Given the description of an element on the screen output the (x, y) to click on. 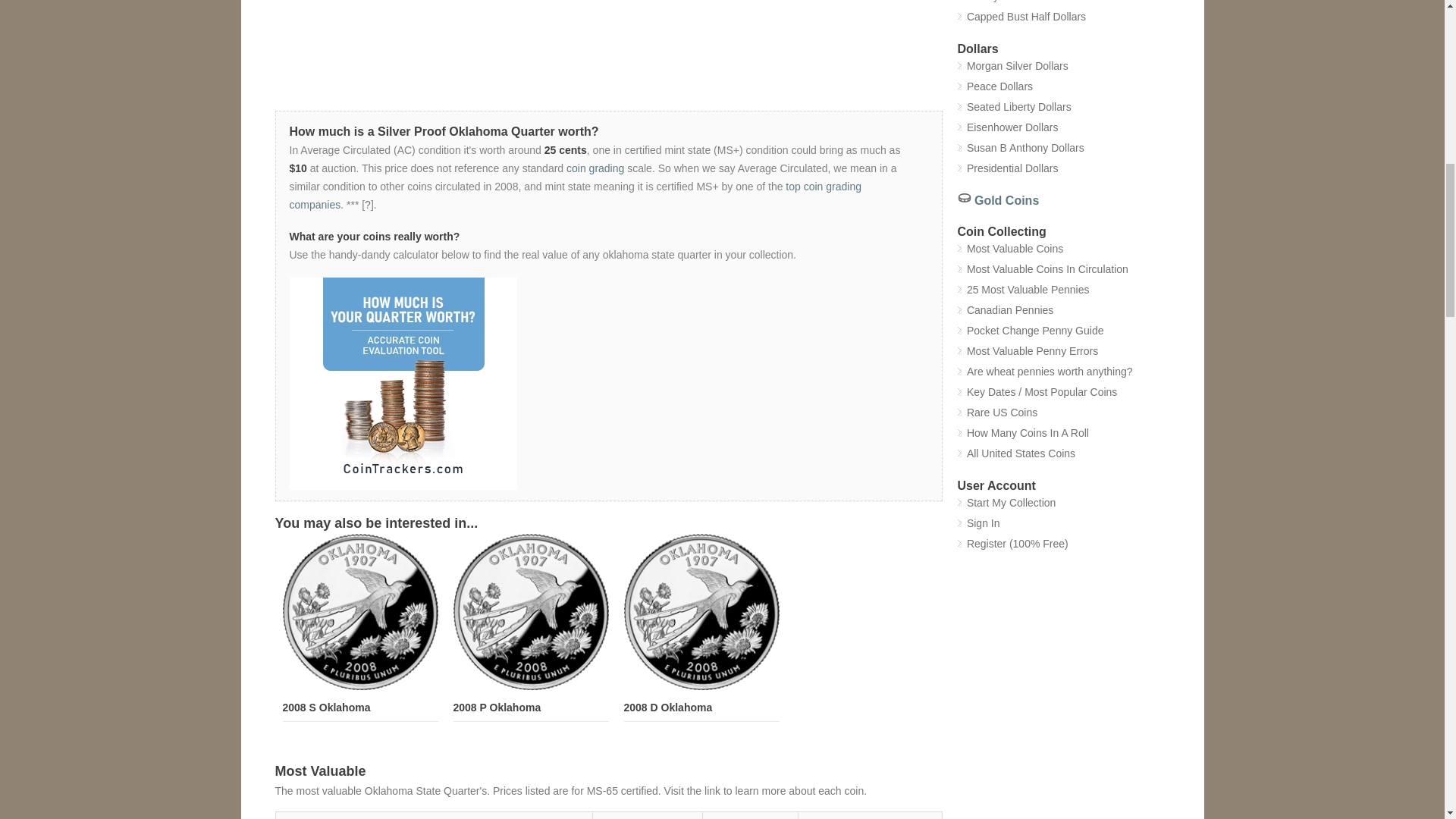
2008 D Oklahoma (667, 707)
whats your quarter worth (600, 383)
coin grading (595, 168)
top coin grading companies (575, 195)
2008 S Oklahoma (325, 707)
2008 P Oklahoma (496, 707)
? (368, 204)
Advertisement (608, 55)
